Given the description of an element on the screen output the (x, y) to click on. 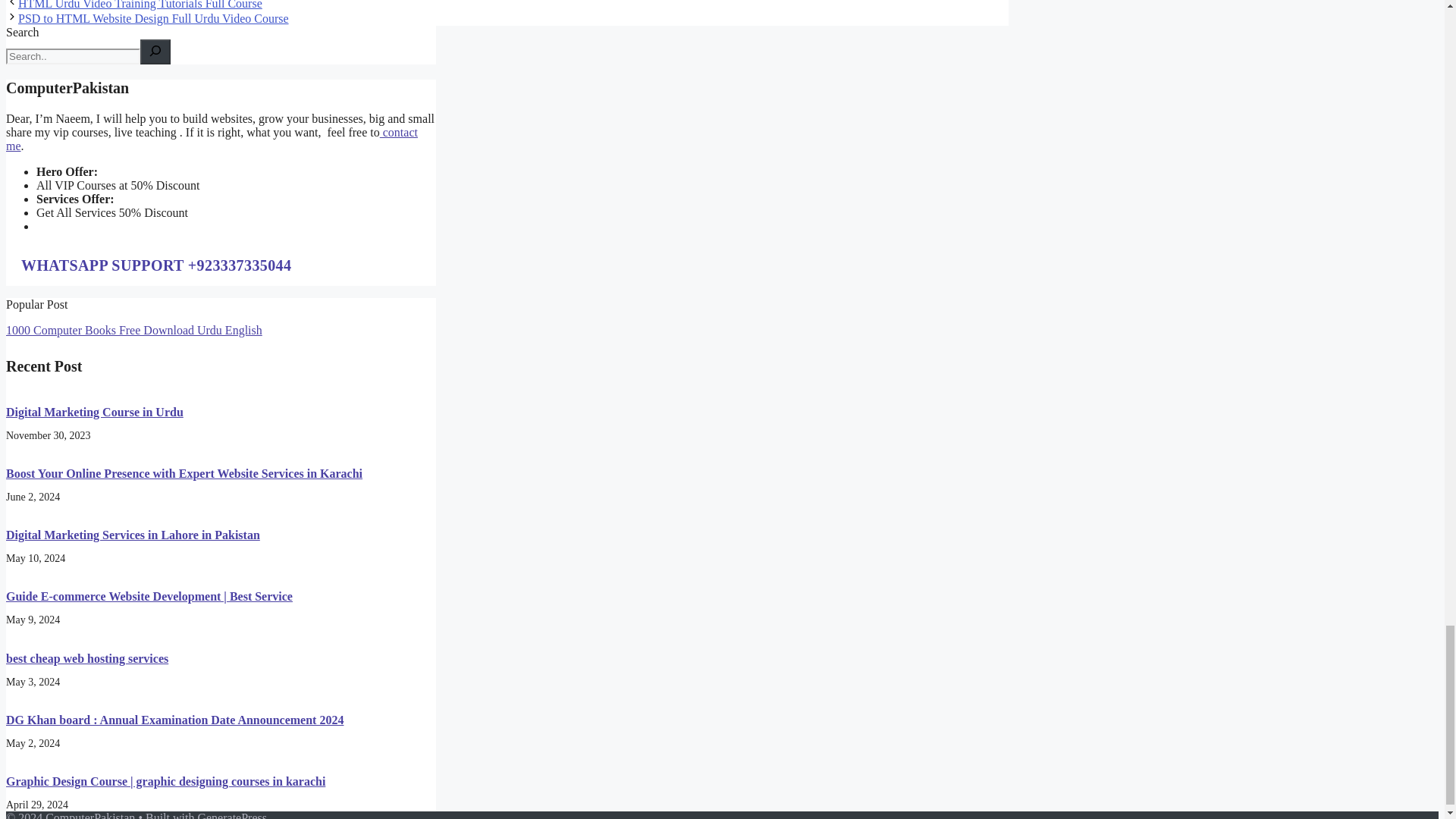
best cheap web hosting services (86, 658)
contact me (211, 139)
1000 Computer Books Free Download Urdu English (133, 329)
DG Khan board : Annual Examination Date Announcement 2024 (174, 719)
Digital Marketing Course in Urdu (94, 411)
HTML Urdu Video Training Tutorials Full Course (139, 4)
Digital Marketing Services in Lahore in Pakistan (132, 534)
PSD to HTML Website Design Full Urdu Video Course (152, 18)
